Given the description of an element on the screen output the (x, y) to click on. 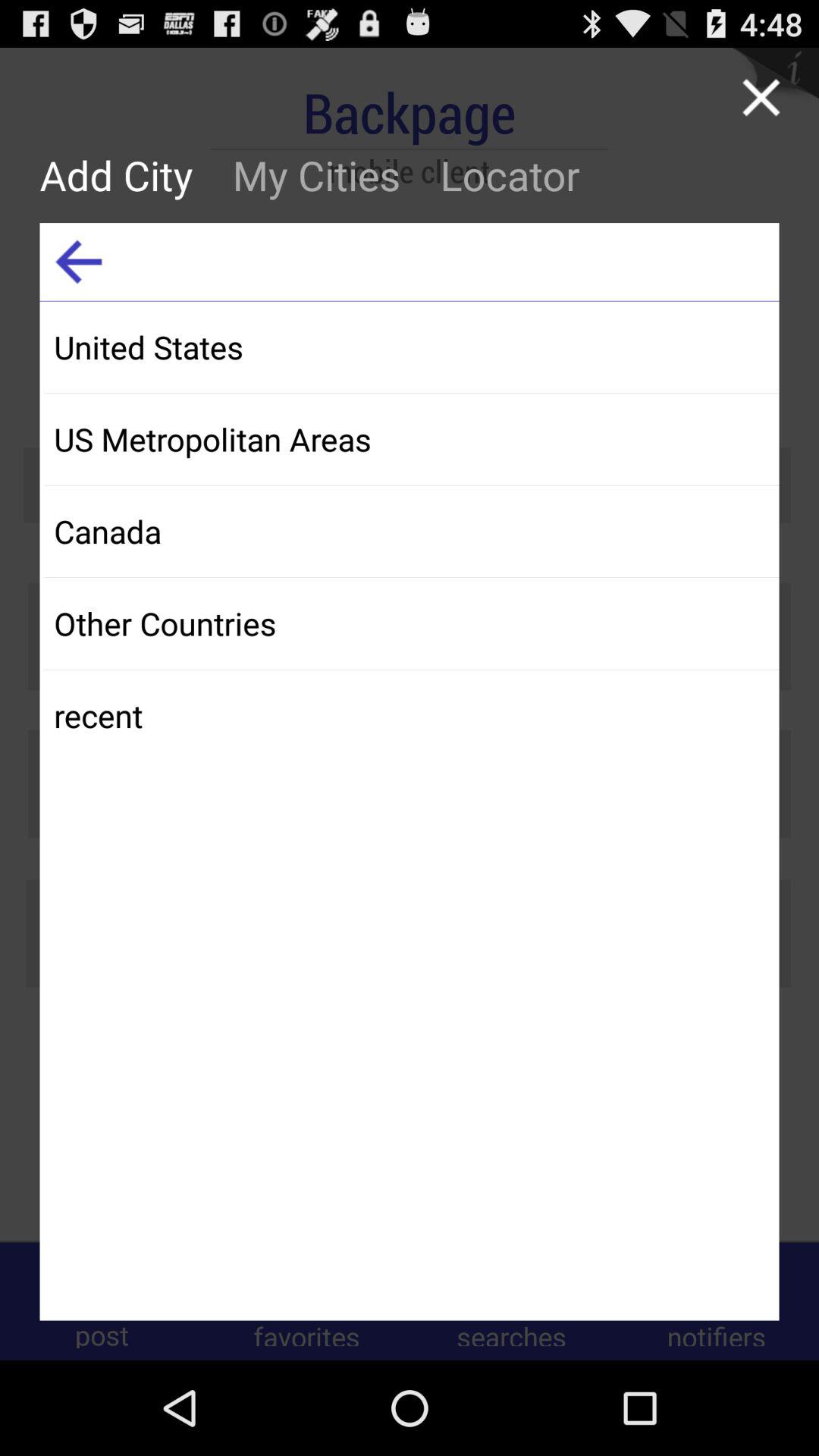
scroll to the united states icon (411, 346)
